Given the description of an element on the screen output the (x, y) to click on. 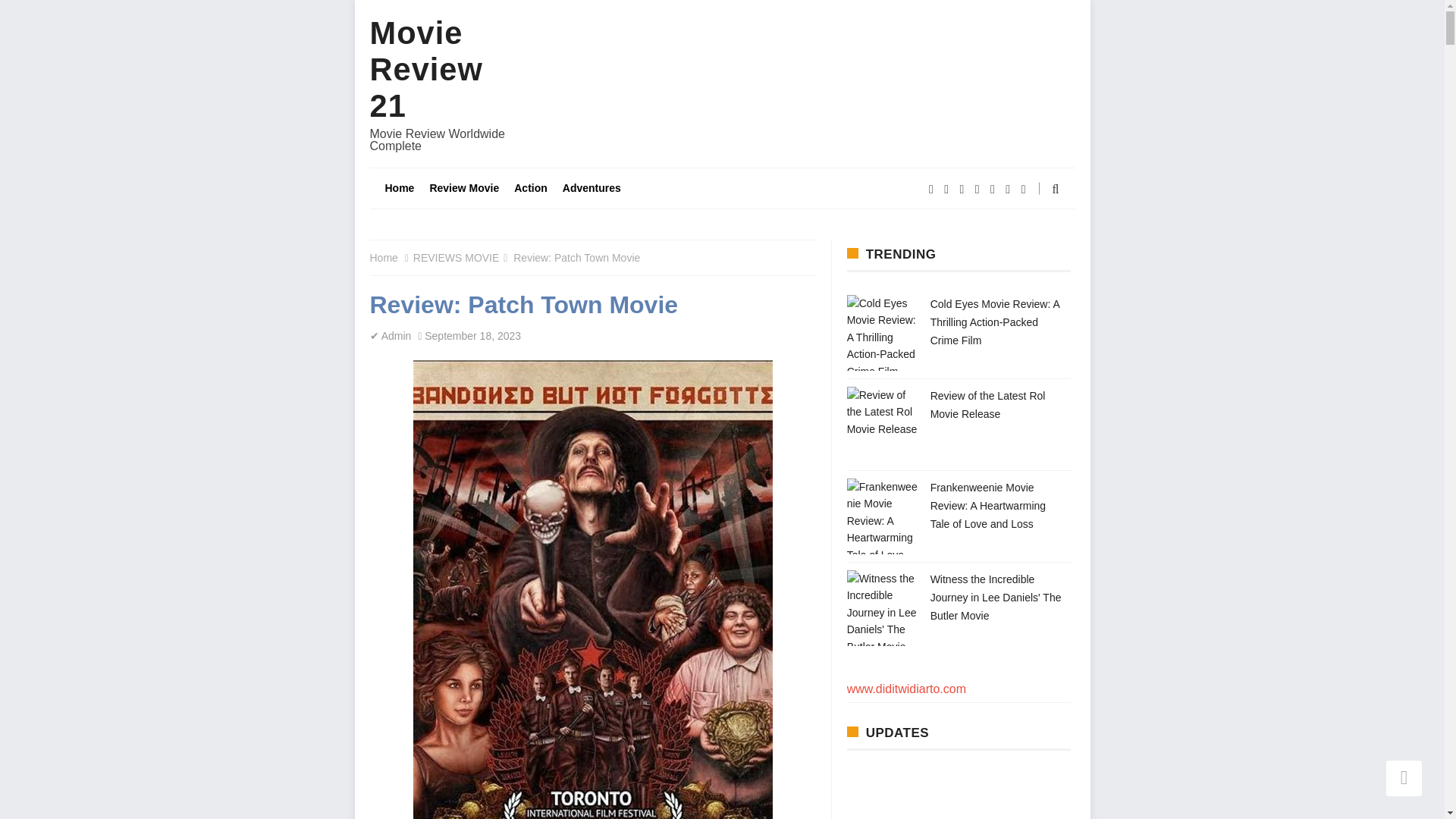
Adventures (591, 188)
REVIEWS MOVIE (456, 257)
Review Movie (464, 188)
Movie Review 21 (426, 69)
Movie Review 21 (426, 69)
permanent link (473, 336)
Home (383, 257)
September 18, 2023 (473, 336)
